Given the description of an element on the screen output the (x, y) to click on. 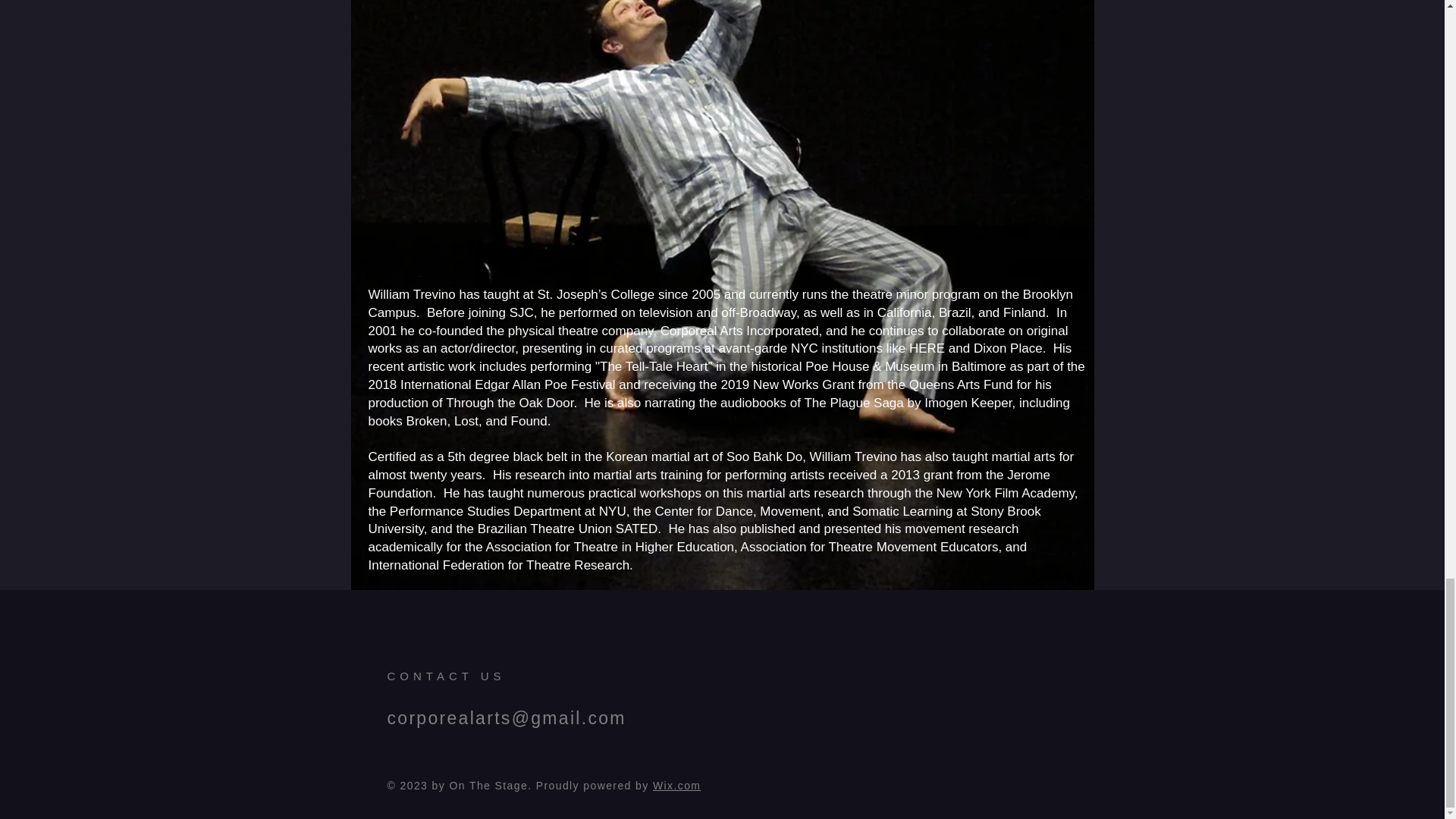
Wix.com (676, 785)
